Given the description of an element on the screen output the (x, y) to click on. 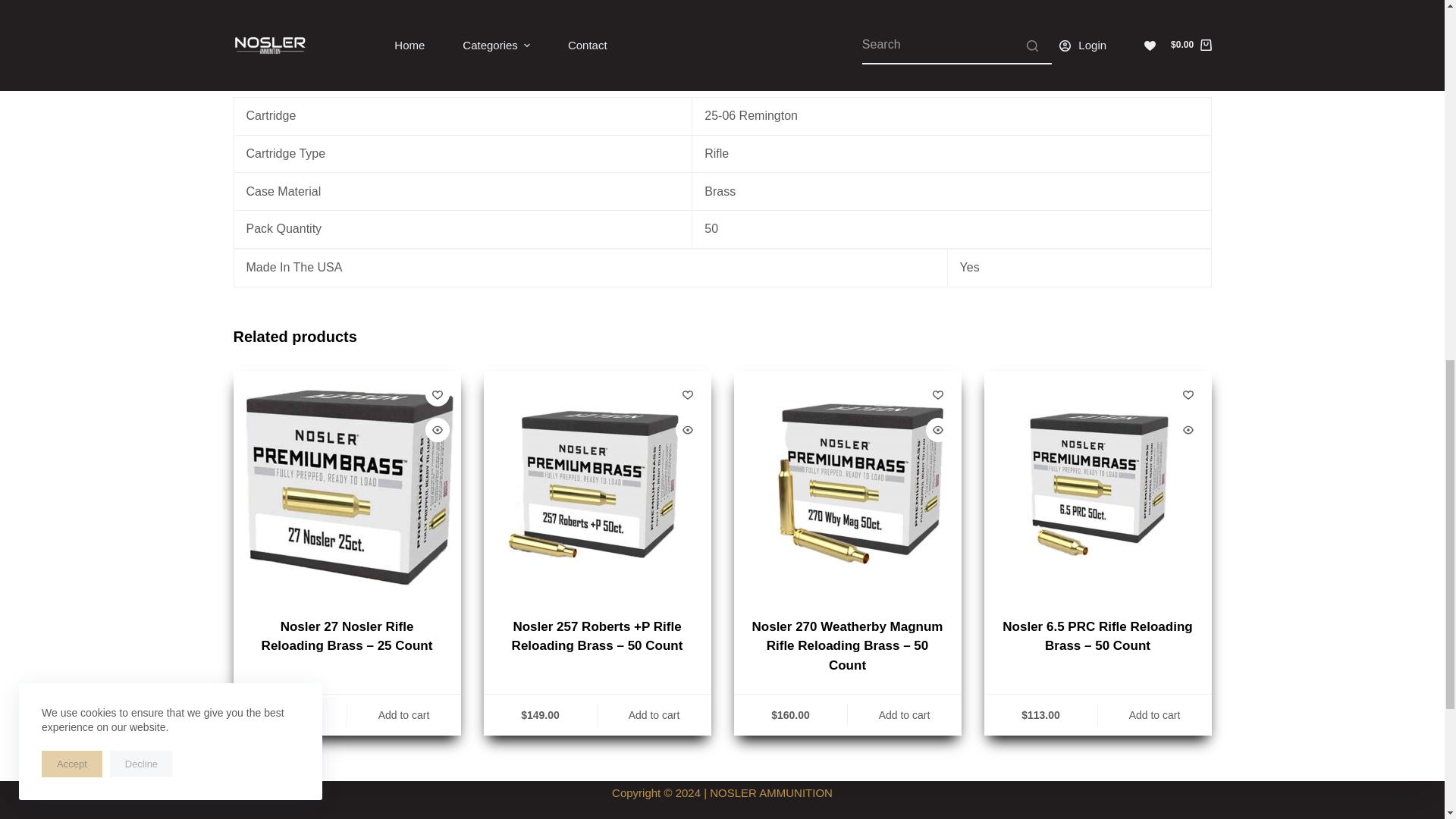
M39 (597, 484)
M40 (846, 484)
M31 (346, 484)
M36 (1097, 484)
